Given the description of an element on the screen output the (x, y) to click on. 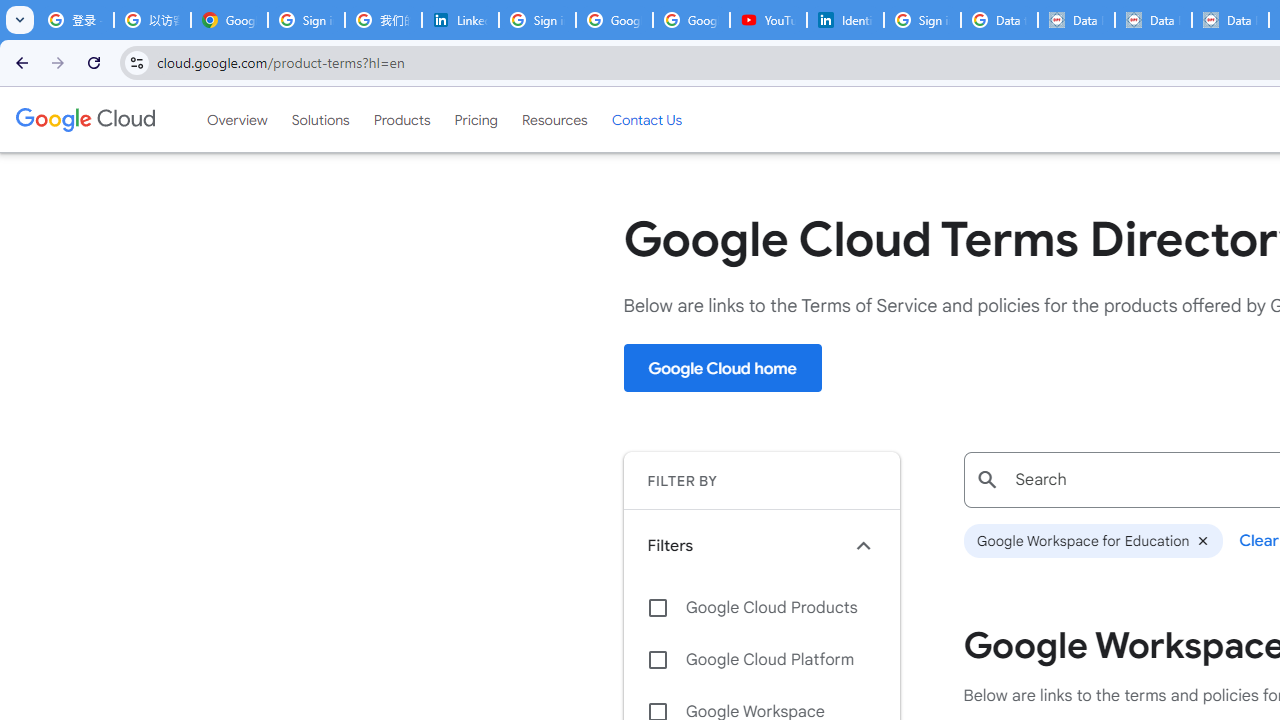
Data Privacy Framework (1229, 20)
